Given the description of an element on the screen output the (x, y) to click on. 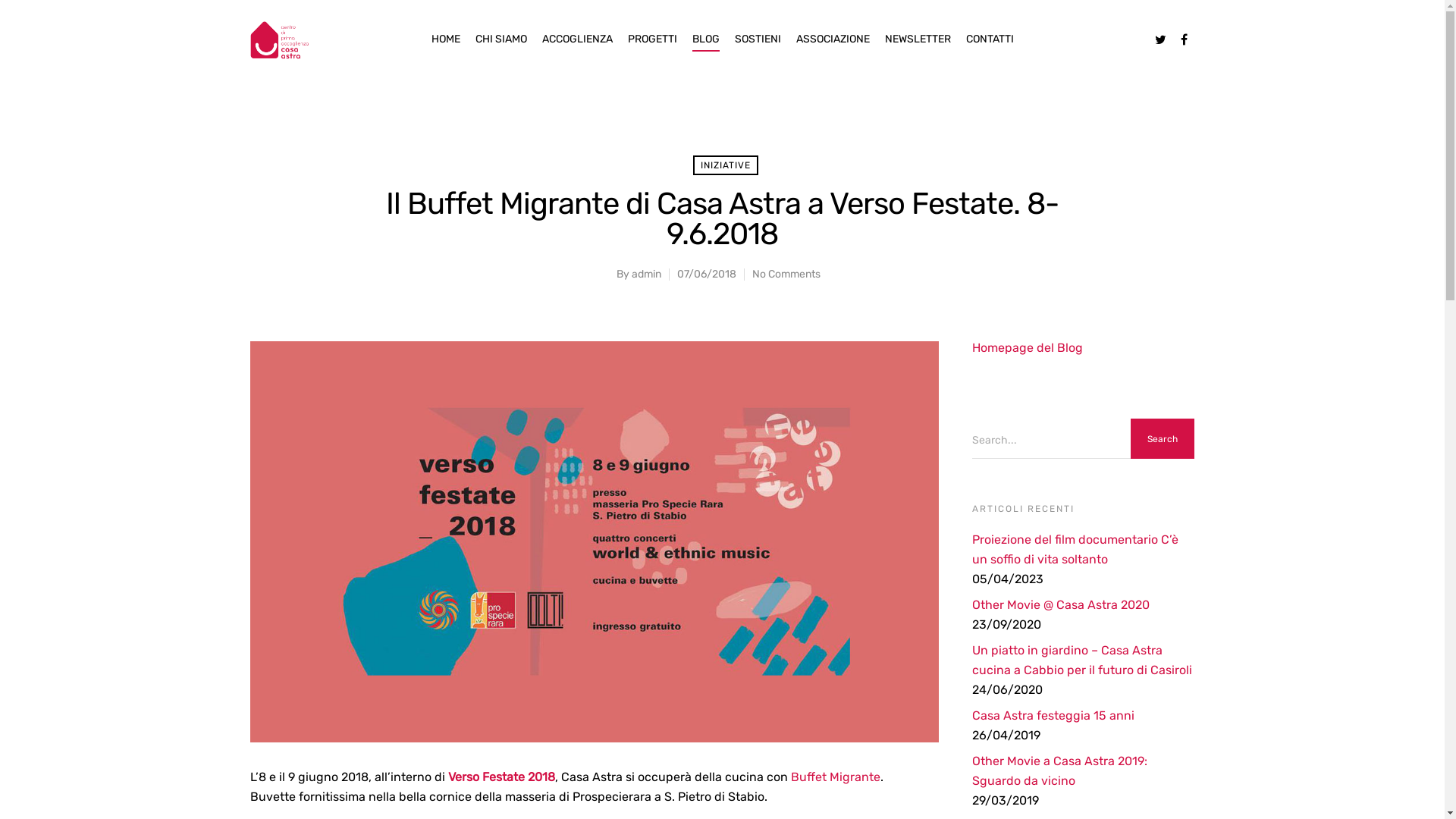
Buffet Migrante Element type: text (835, 776)
Verso Festate 2018 Element type: text (501, 776)
Other Movie a Casa Astra 2019: Sguardo da vicino Element type: text (1083, 770)
PROGETTI Element type: text (652, 49)
SOSTIENI Element type: text (757, 49)
NEWSLETTER Element type: text (917, 49)
Search for: Element type: hover (1083, 440)
Search Element type: text (1162, 438)
CHI SIAMO Element type: text (500, 49)
HOME Element type: text (444, 49)
Other Movie @ Casa Astra 2020 Element type: text (1083, 605)
Homepage del Blog Element type: text (1027, 347)
ACCOGLIENZA Element type: text (576, 49)
No Comments Element type: text (786, 273)
INIZIATIVE Element type: text (725, 165)
ASSOCIAZIONE Element type: text (832, 49)
Casa Astra festeggia 15 anni Element type: text (1083, 715)
BLOG Element type: text (704, 49)
admin Element type: text (646, 273)
CONTATTI Element type: text (989, 49)
